Given the description of an element on the screen output the (x, y) to click on. 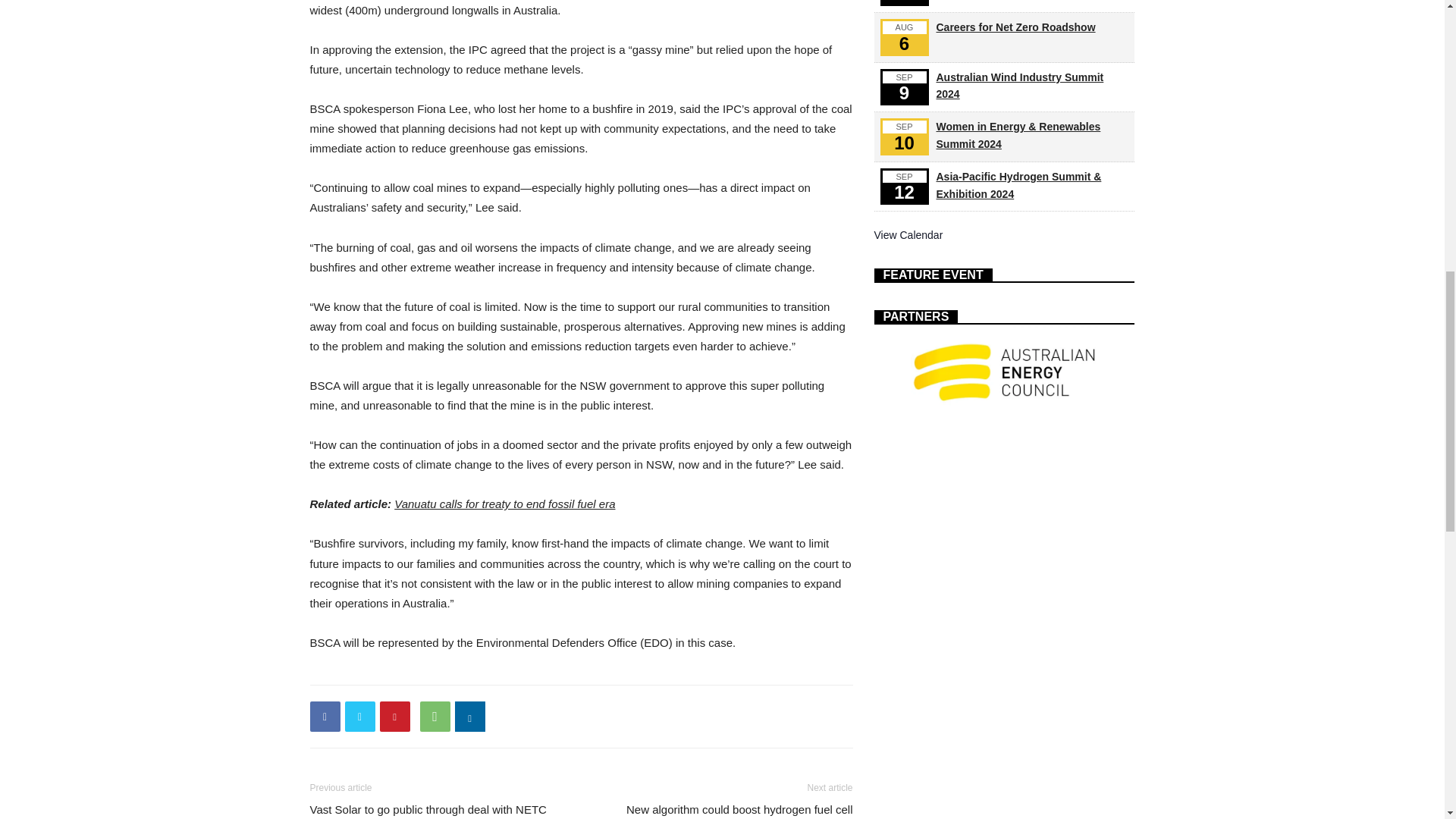
Facebook (323, 716)
Pinterest (393, 716)
WhatsApp (434, 716)
Twitter (358, 716)
